Given the description of an element on the screen output the (x, y) to click on. 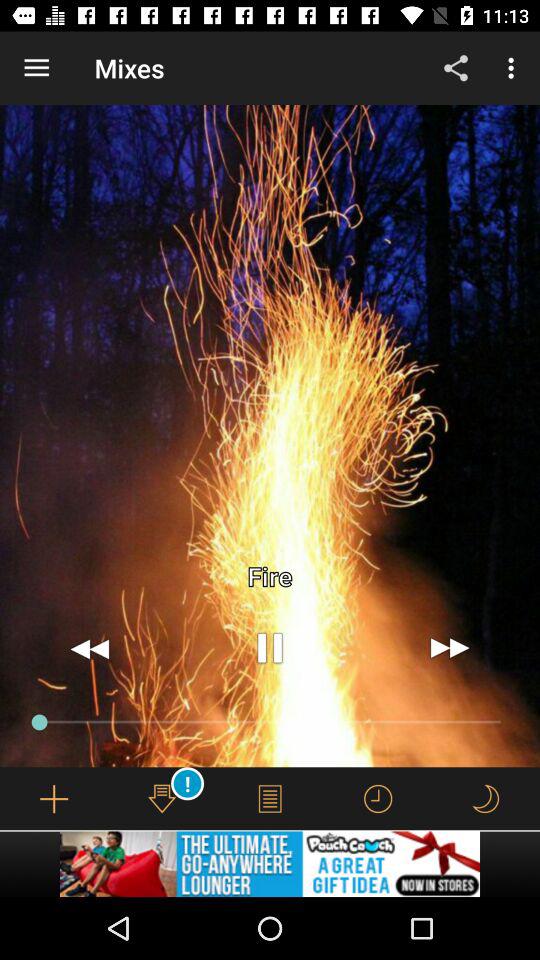
advertisement for a product (270, 864)
